Given the description of an element on the screen output the (x, y) to click on. 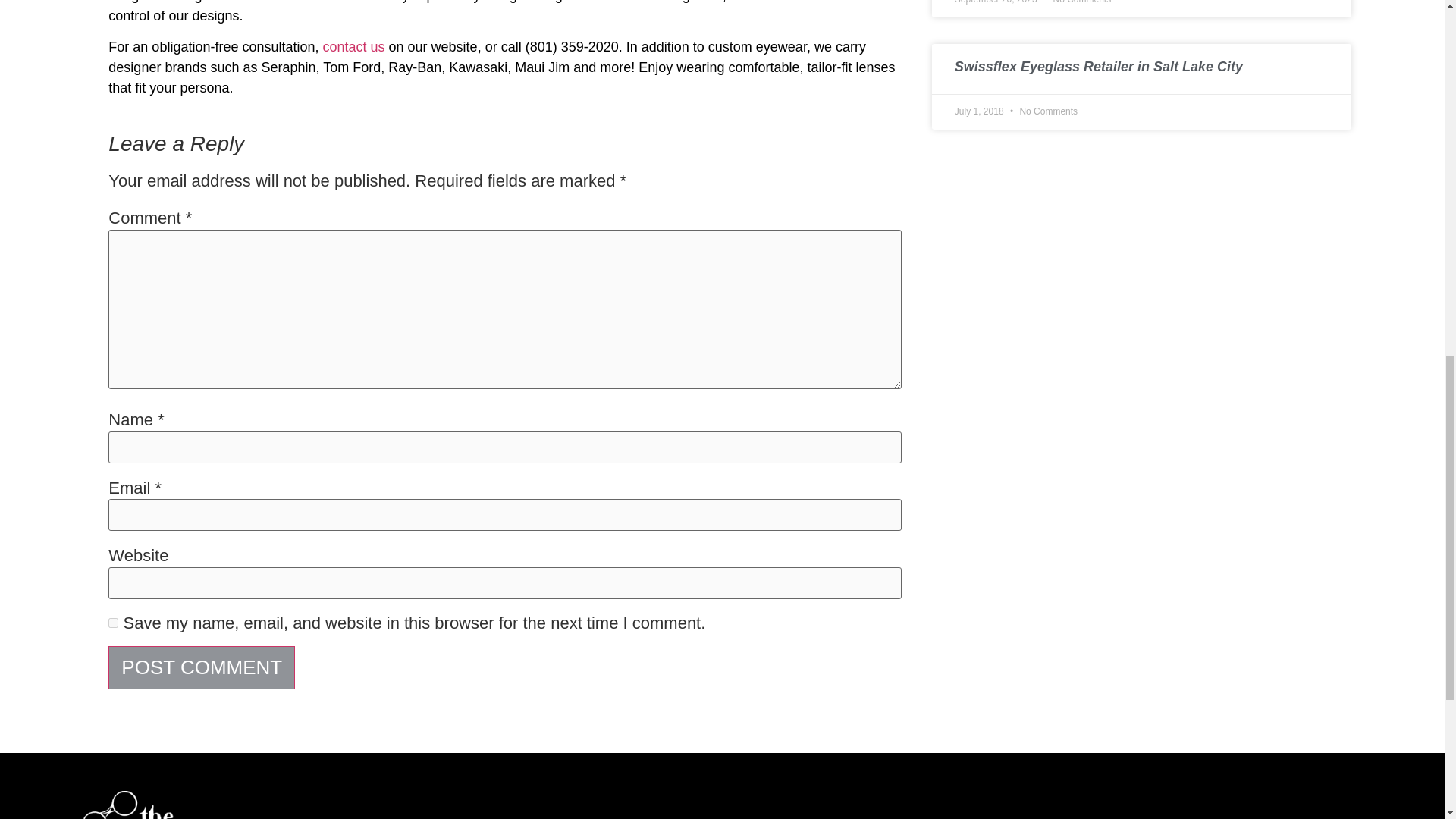
contact us (354, 46)
Swissflex Eyeglass Retailer in Salt Lake City (1099, 66)
yes (112, 623)
Post Comment (201, 667)
Post Comment (201, 667)
